Given the description of an element on the screen output the (x, y) to click on. 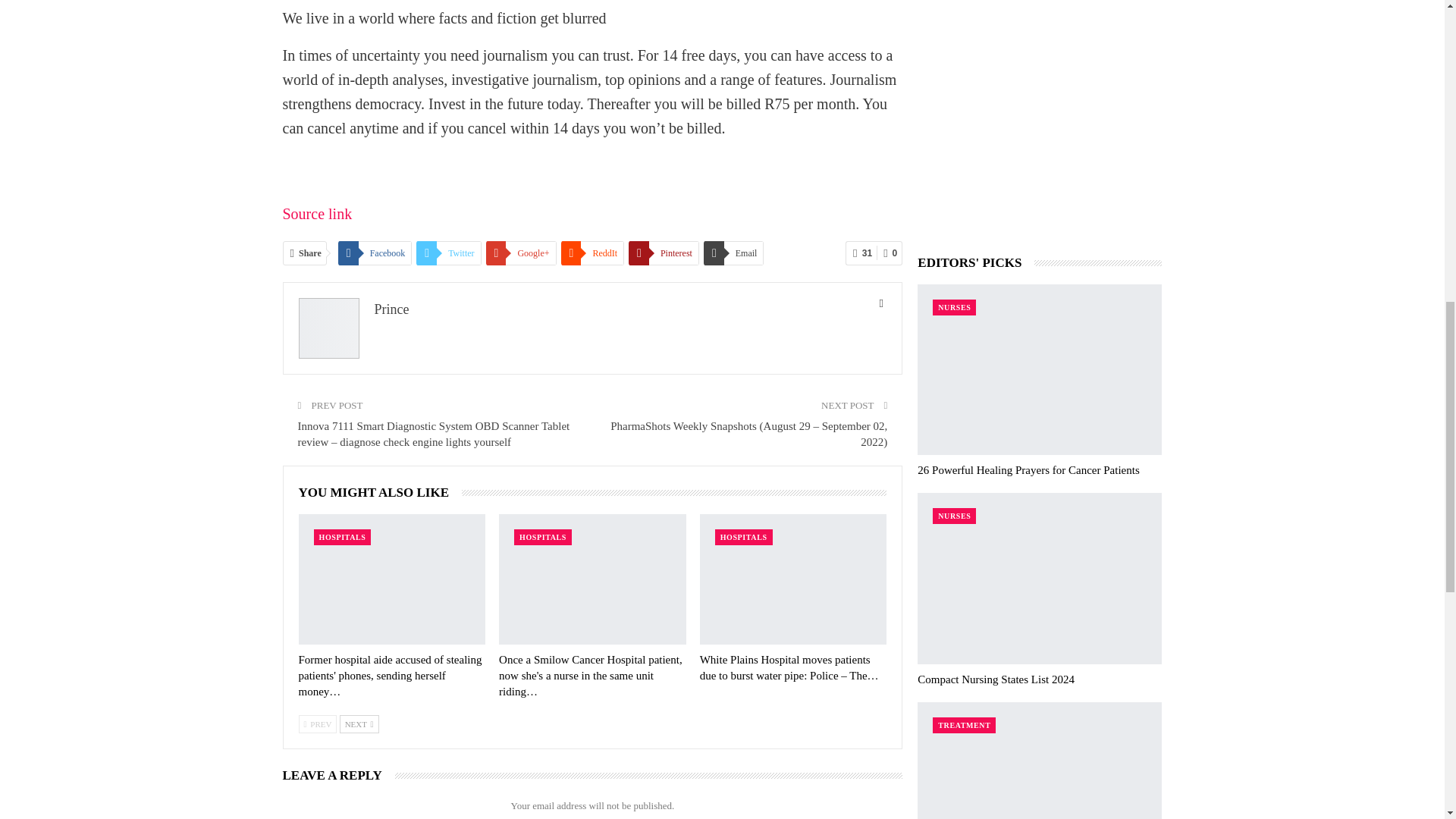
YOU MIGHT ALSO LIKE (380, 492)
ReddIt (592, 252)
Email (733, 252)
Facebook (374, 252)
HOSPITALS (342, 537)
Pinterest (663, 252)
Prince (391, 309)
Twitter (448, 252)
0 (889, 252)
Source link (317, 213)
